Given the description of an element on the screen output the (x, y) to click on. 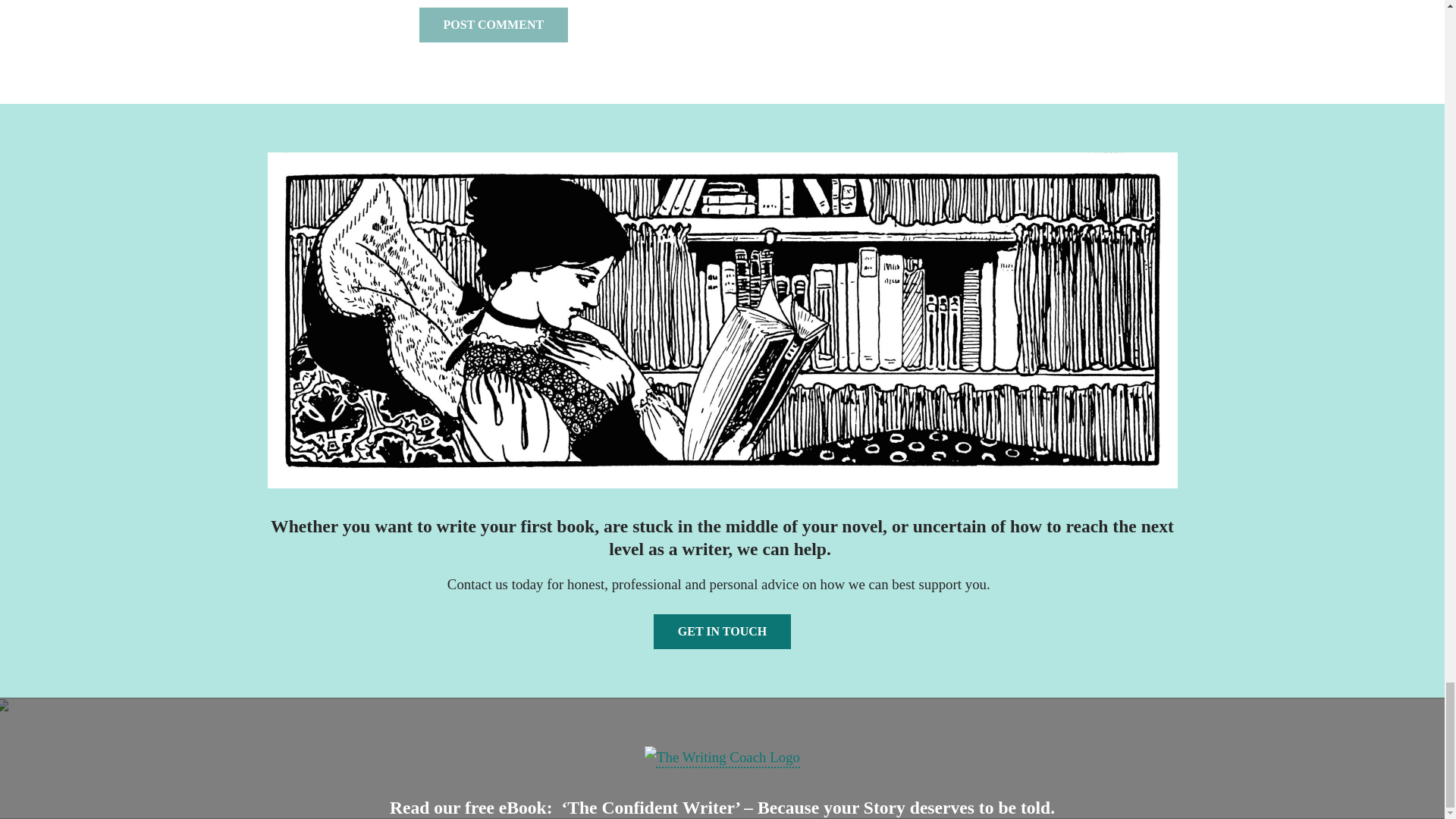
Post Comment (493, 24)
GET IN TOUCH (721, 631)
Post Comment (493, 24)
